Given the description of an element on the screen output the (x, y) to click on. 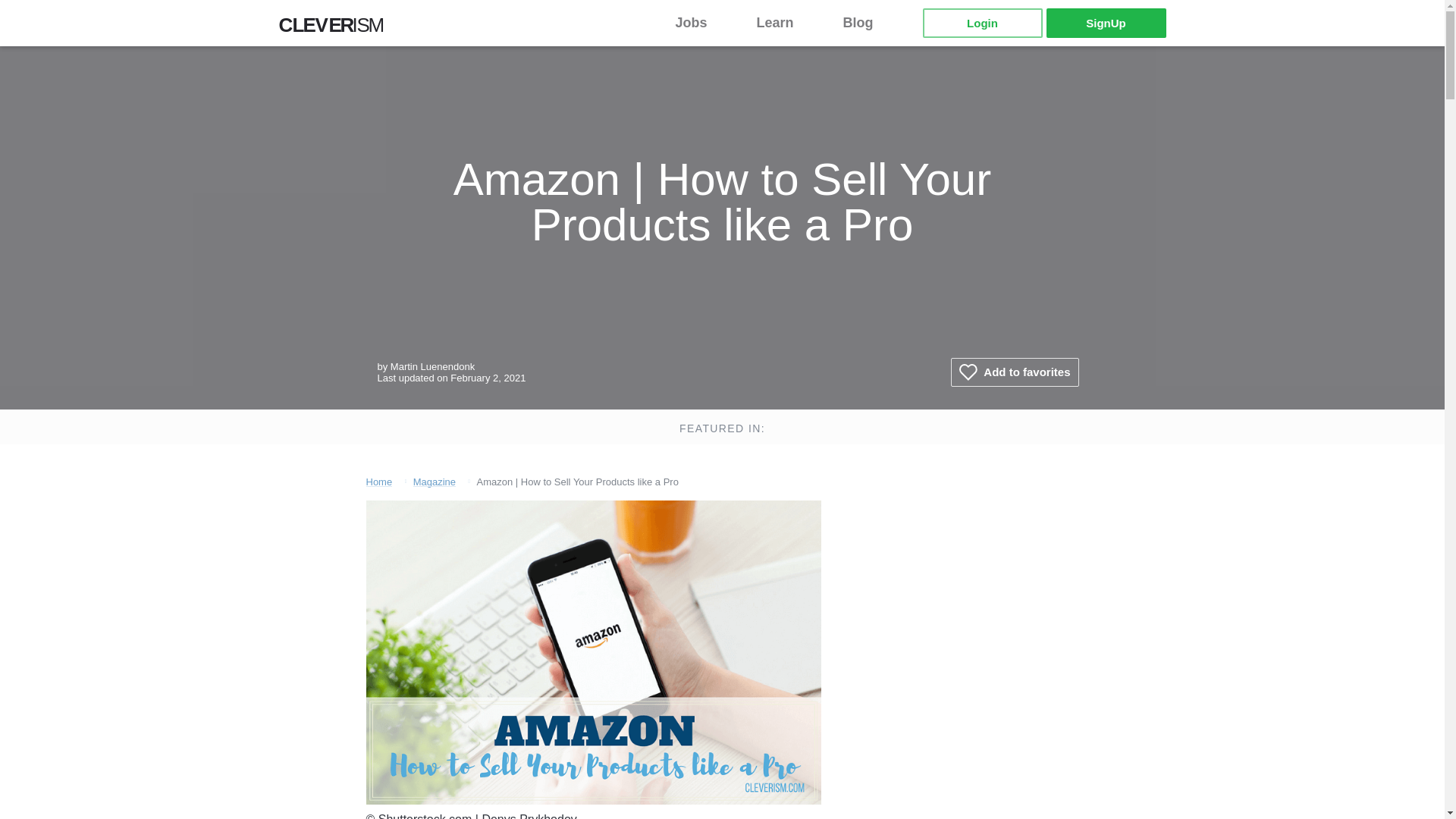
Login (981, 22)
Home (378, 481)
Learn (783, 22)
Blog (867, 22)
SignUp (1106, 22)
Magazine (434, 481)
Jobs (700, 22)
Add to favorites (1014, 371)
